Given the description of an element on the screen output the (x, y) to click on. 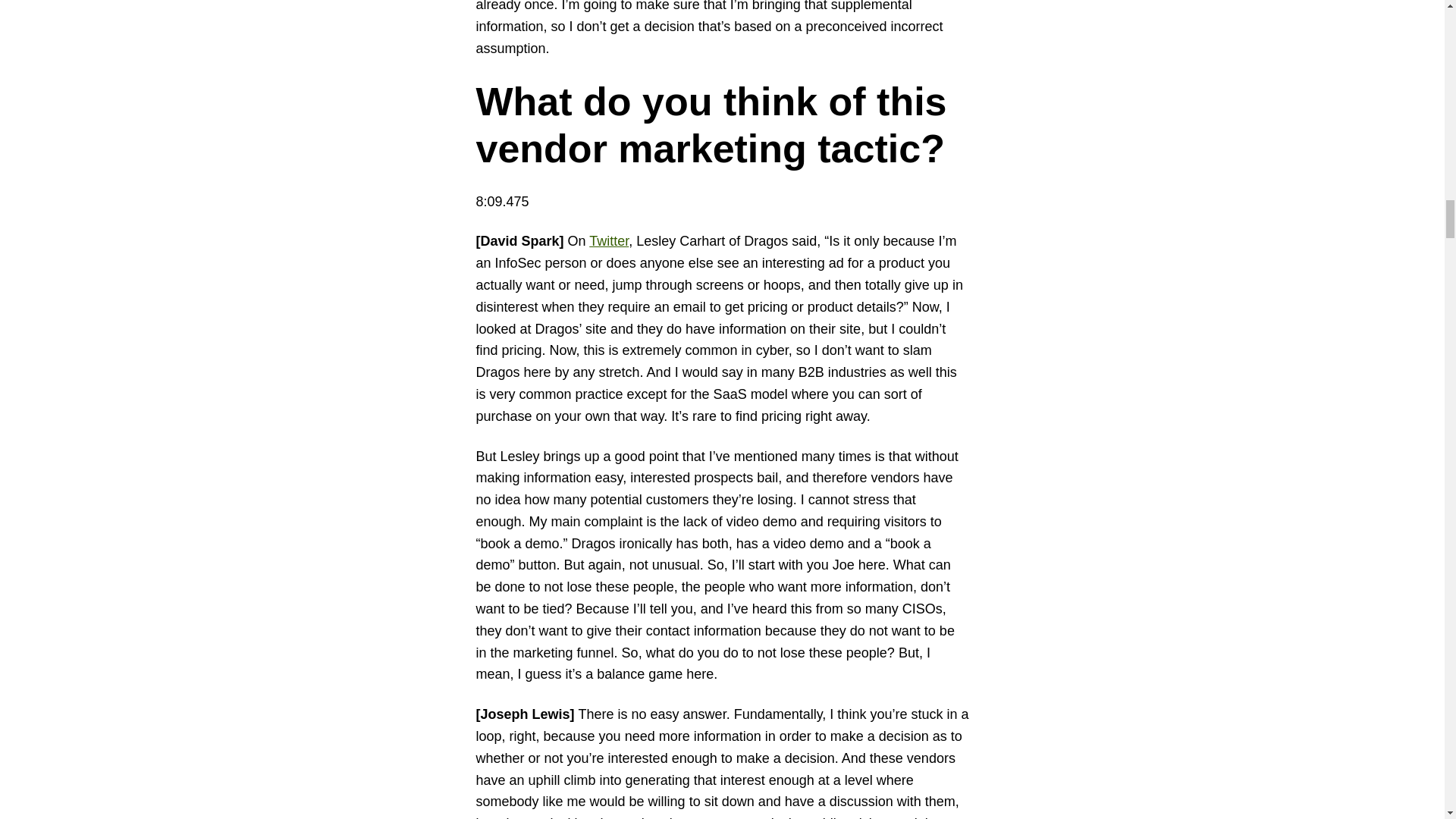
Twitter (608, 240)
